Given the description of an element on the screen output the (x, y) to click on. 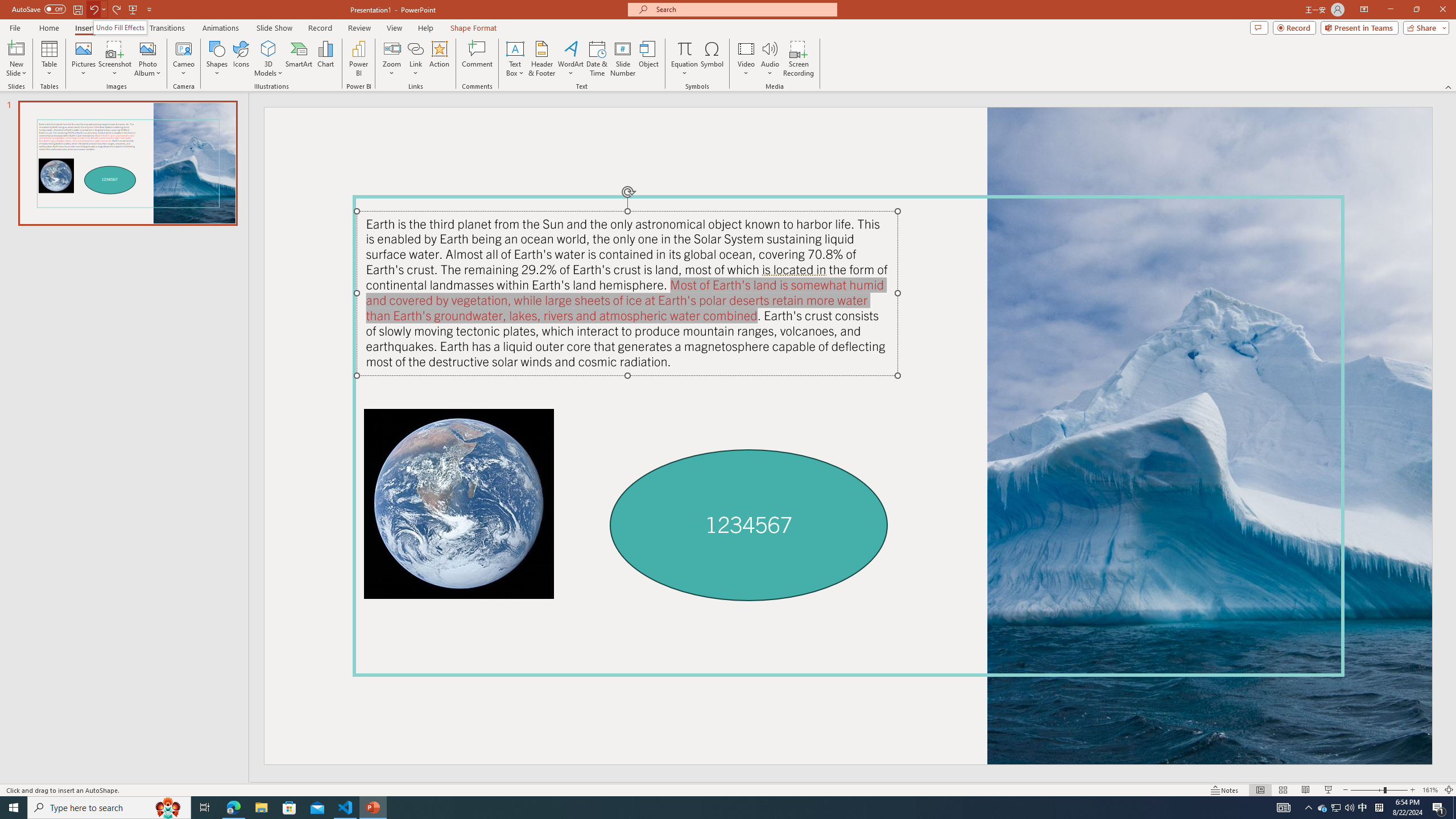
Screen Recording... (798, 58)
Action (439, 58)
Undo Fill Effects (120, 27)
Comment (476, 58)
Chart... (325, 58)
